Given the description of an element on the screen output the (x, y) to click on. 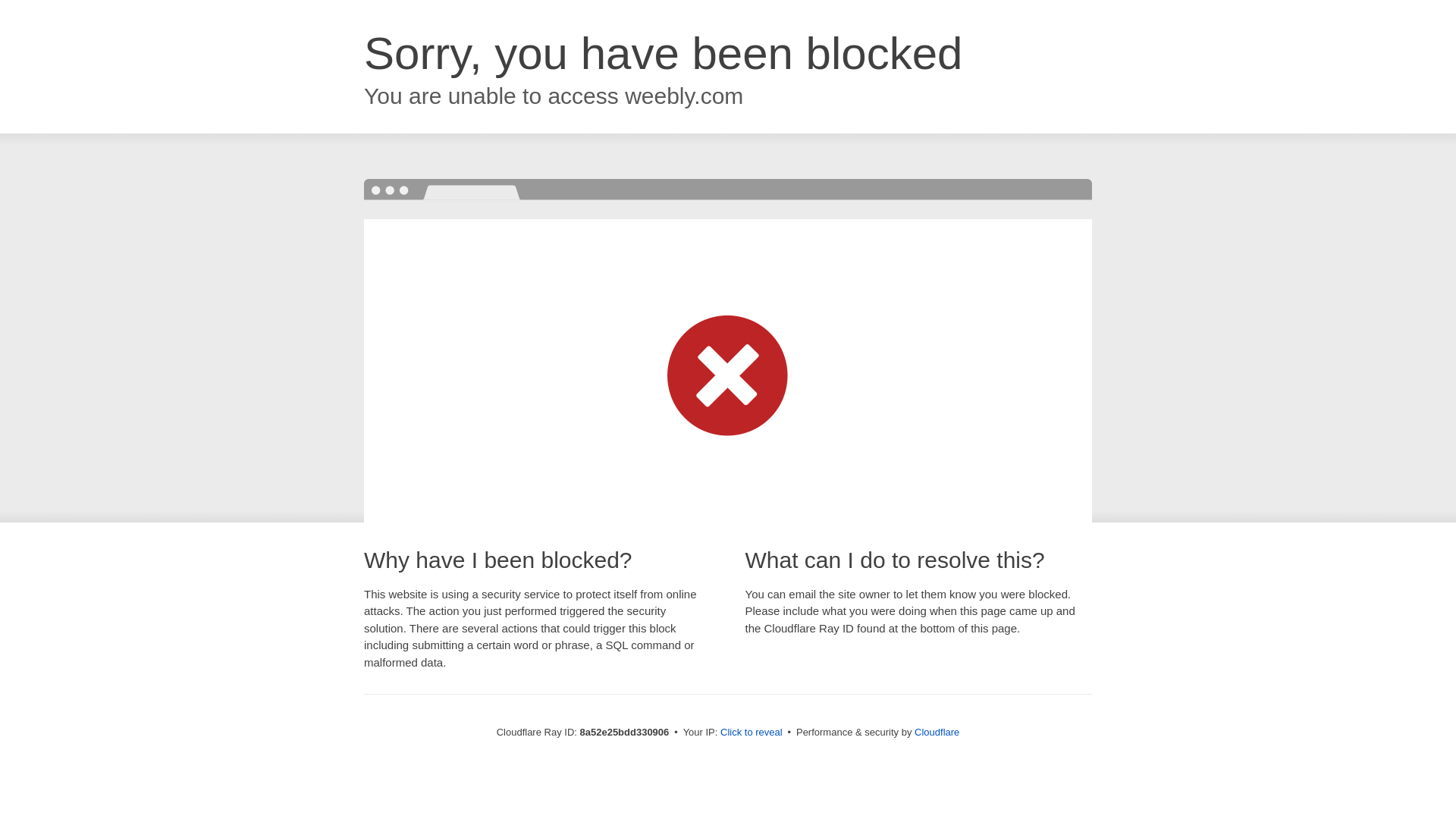
Cloudflare (936, 731)
Click to reveal (751, 732)
